Given the description of an element on the screen output the (x, y) to click on. 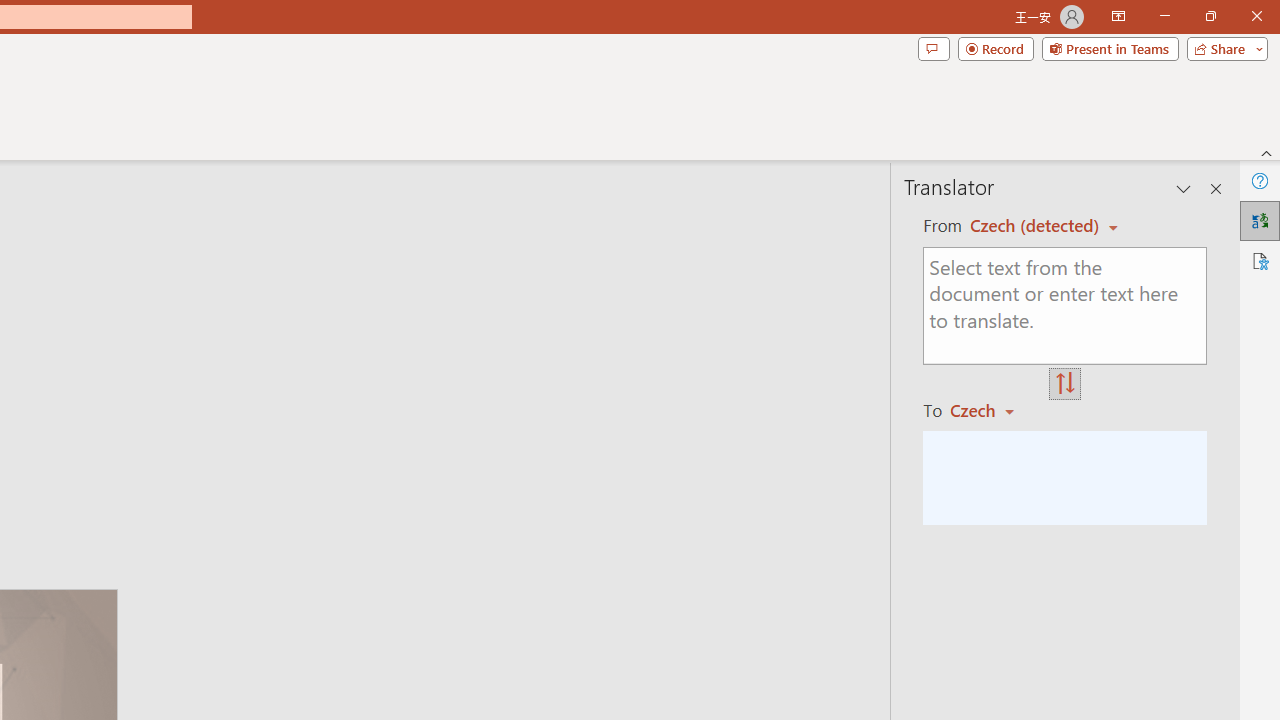
Czech (991, 409)
English (1037, 225)
